Given the description of an element on the screen output the (x, y) to click on. 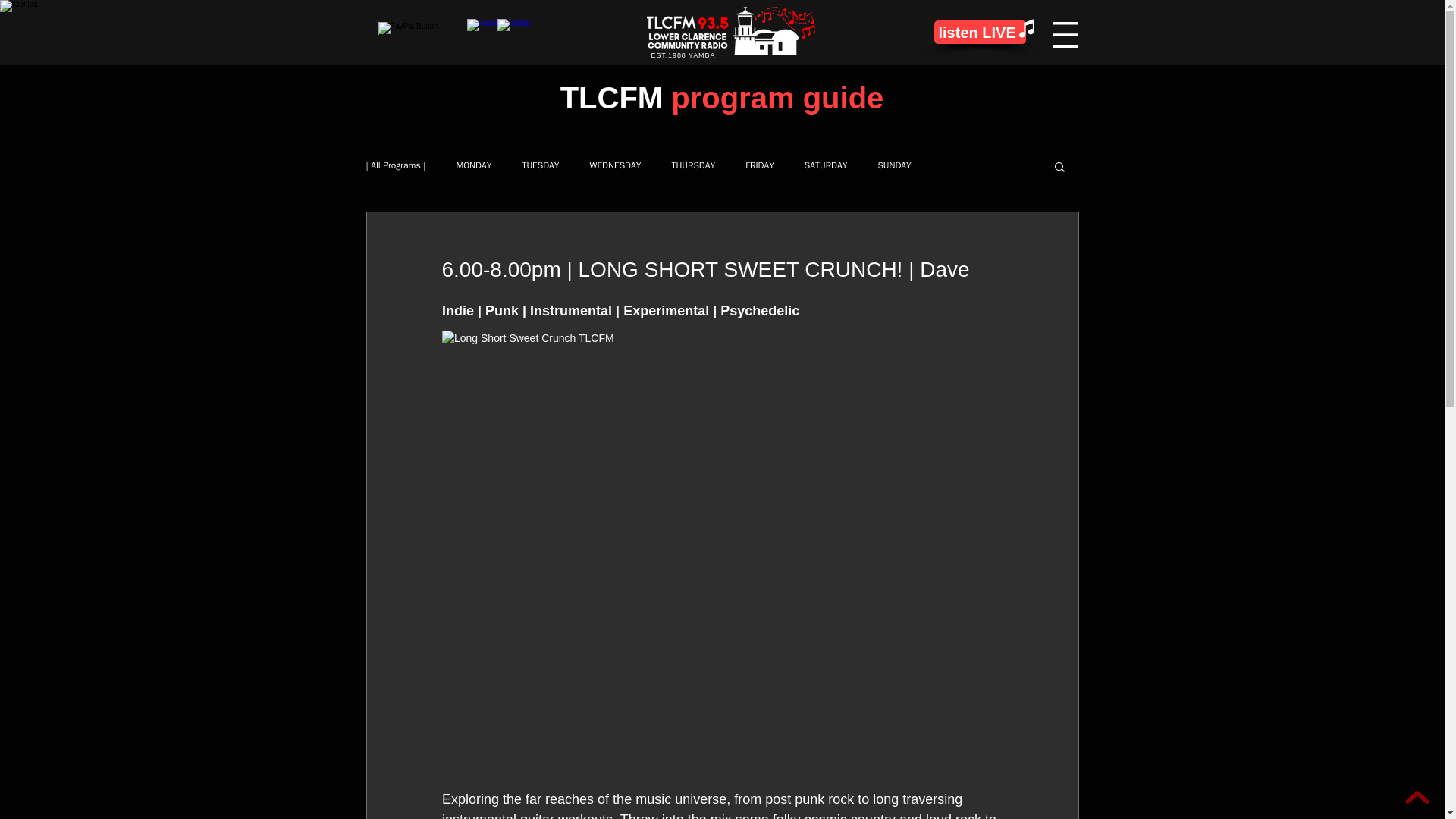
THURSDAY (692, 164)
WEDNESDAY (615, 164)
TUESDAY (540, 164)
listen LIVE (980, 32)
FRIDAY (759, 164)
SATURDAY (826, 164)
MONDAY (473, 164)
SUNDAY (894, 164)
